Given the description of an element on the screen output the (x, y) to click on. 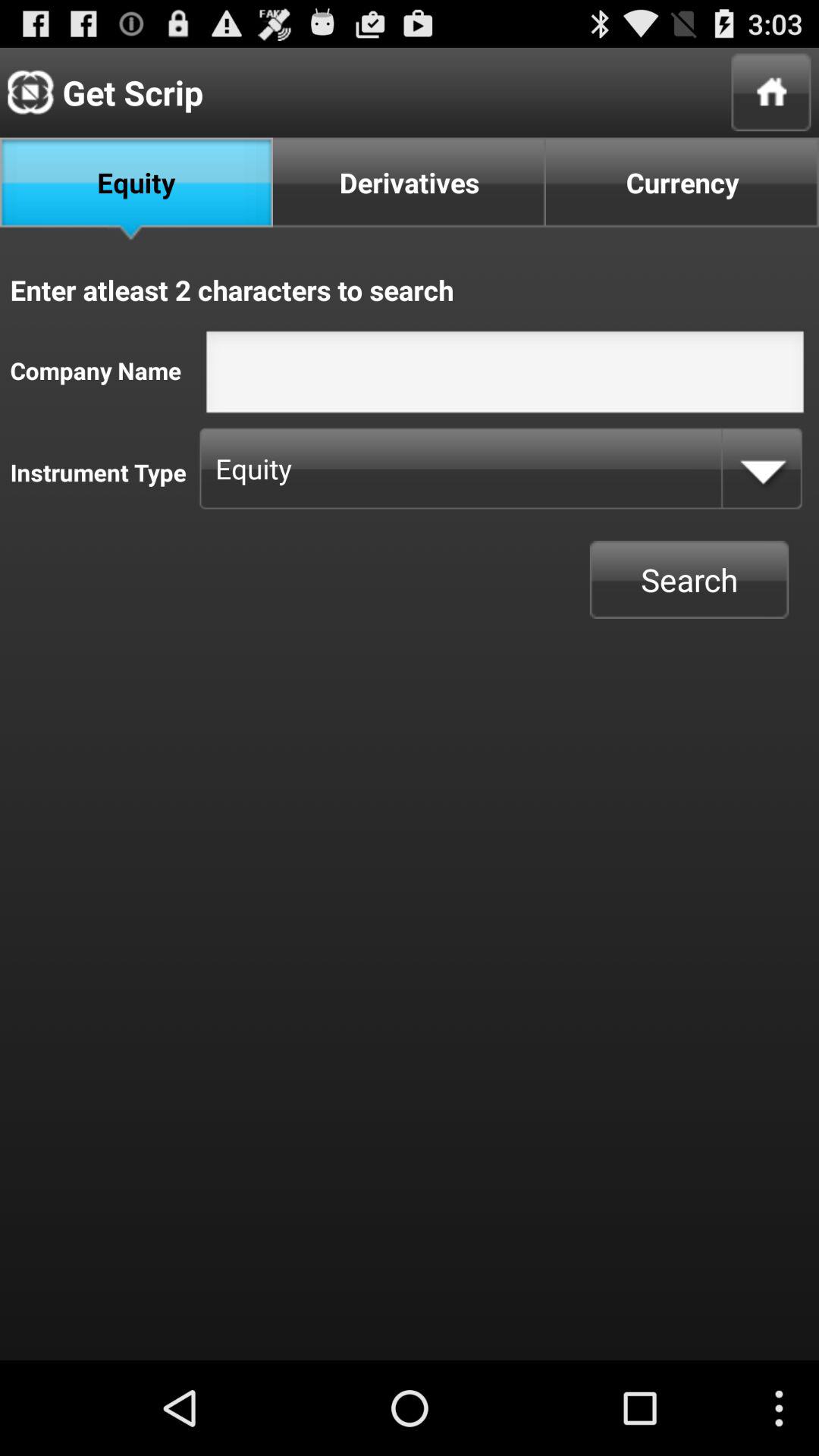
insert text (504, 376)
